Given the description of an element on the screen output the (x, y) to click on. 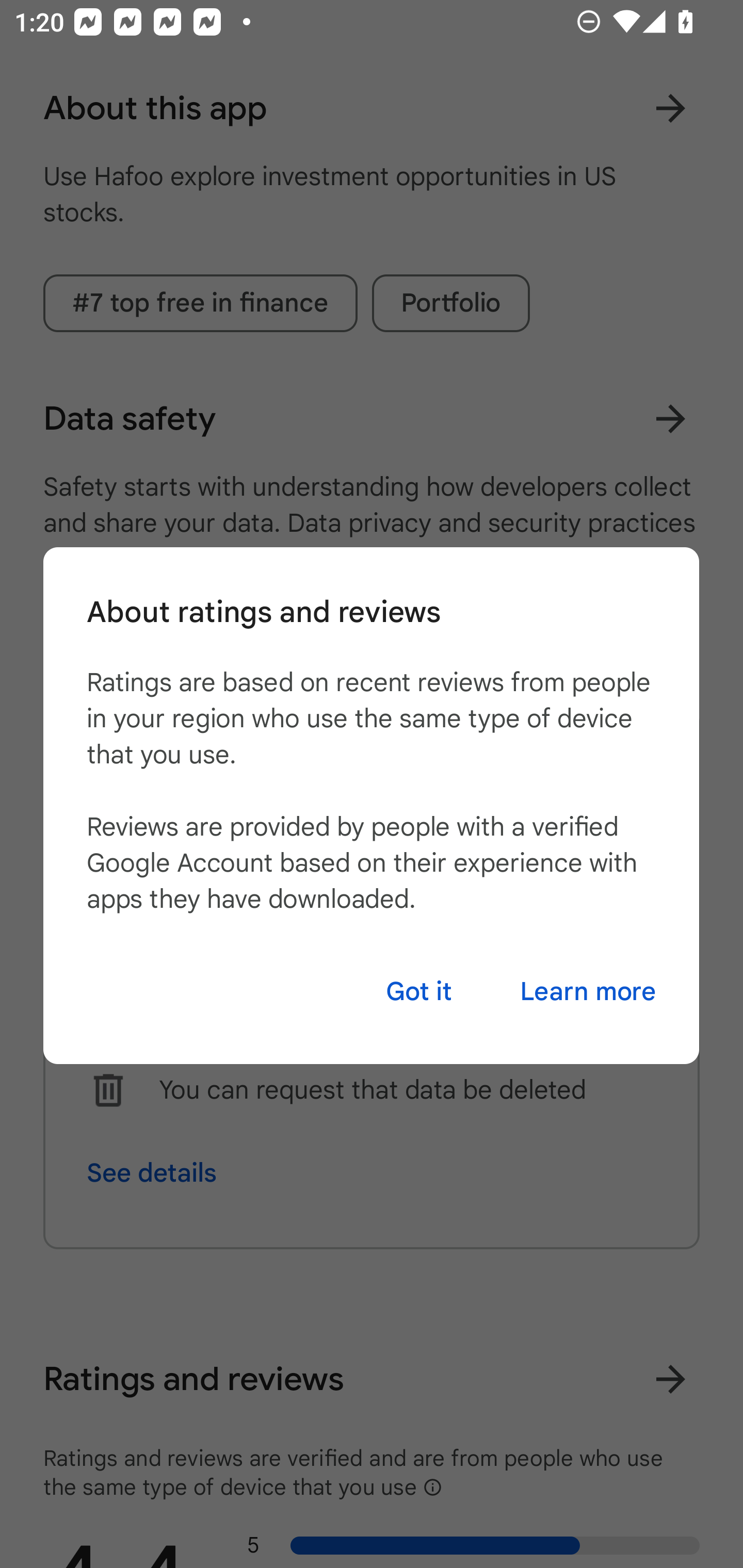
Got it (418, 991)
Learn more (588, 991)
